Given the description of an element on the screen output the (x, y) to click on. 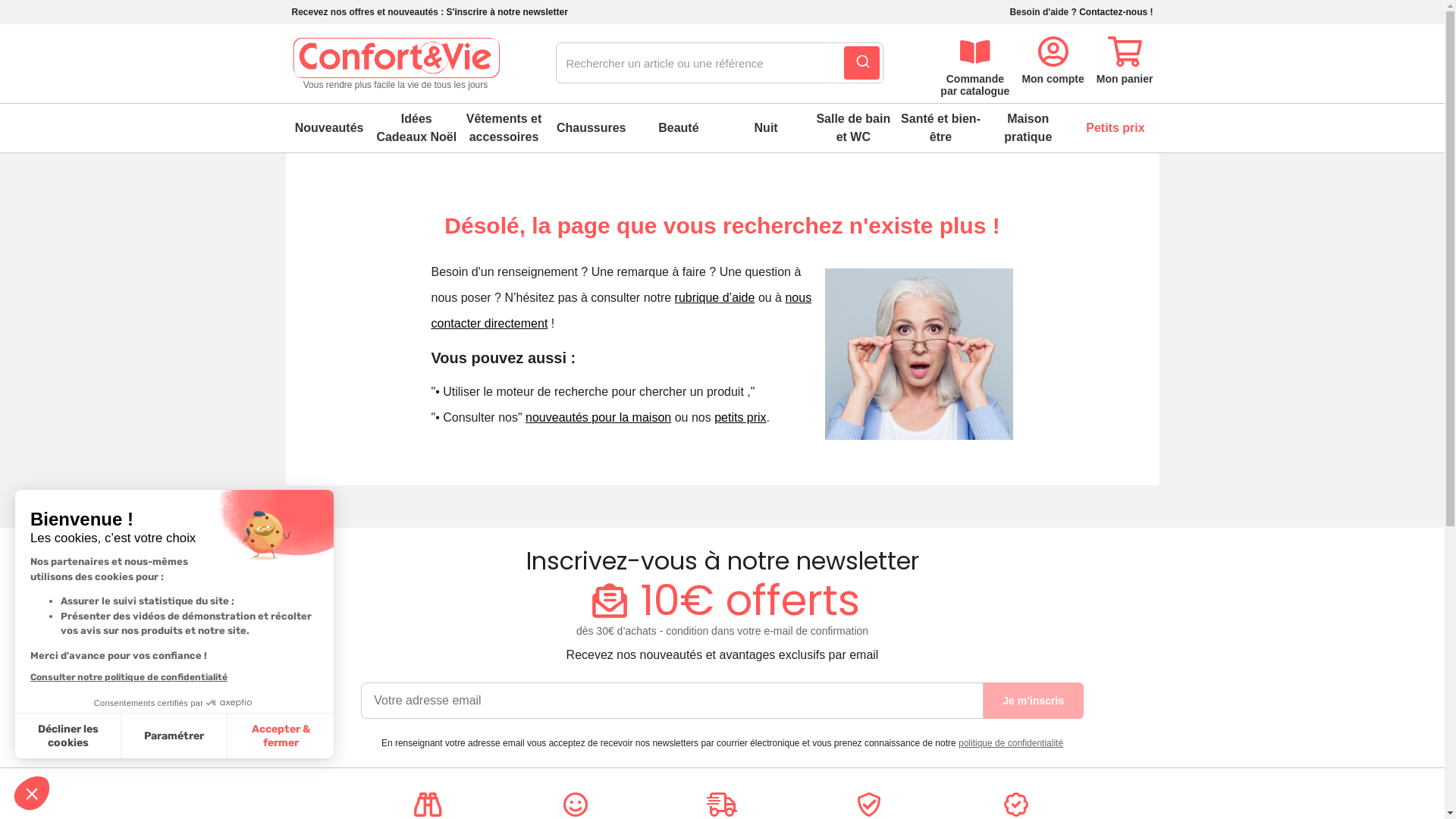
Commande
par catalogue Element type: text (974, 63)
Mon panier Element type: text (1124, 57)
Salle de bain et WC Element type: text (853, 127)
petits prix Element type: text (739, 417)
Rechercher Element type: hover (861, 62)
Mon compte Element type: text (1052, 57)
Nuit Element type: text (765, 127)
nous contacter directement Element type: text (620, 310)
Contactez-nous ! Element type: text (1115, 11)
Chaussures Element type: text (590, 127)
Petits prix Element type: text (1114, 127)
Vous rendre plus facile la vie de tous les jours Element type: text (394, 63)
Maison pratique Element type: text (1027, 127)
